Given the description of an element on the screen output the (x, y) to click on. 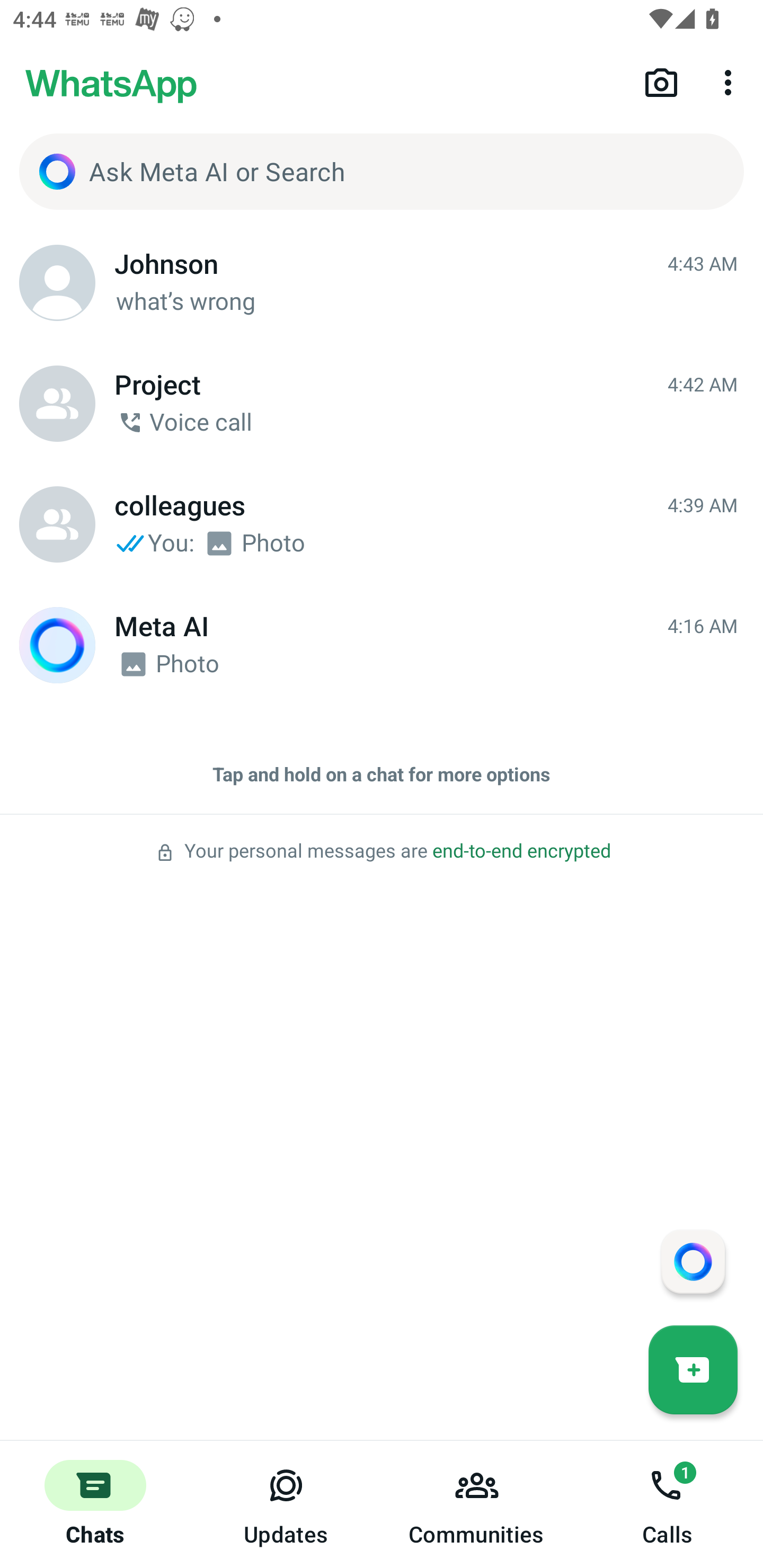
Camera (661, 81)
More options (731, 81)
Johnson Johnson 4:43 AM 4:43 AM what’s wrong (381, 282)
Johnson (57, 282)
Project Project 4:42 AM 4:42 AM Voice call (381, 403)
Project (57, 403)
colleagues colleagues 4:39 AM 4:39 AM You:  Photo (381, 524)
colleagues (57, 524)
Meta AI Meta AI 4:16 AM 4:16 AM Photo (381, 644)
Meta AI (57, 644)
end-to-end encrypted (521, 851)
Message your assistant (692, 1261)
New chat (692, 1369)
Updates (285, 1504)
Communities (476, 1504)
Calls, 1 new notification Calls (667, 1504)
